Given the description of an element on the screen output the (x, y) to click on. 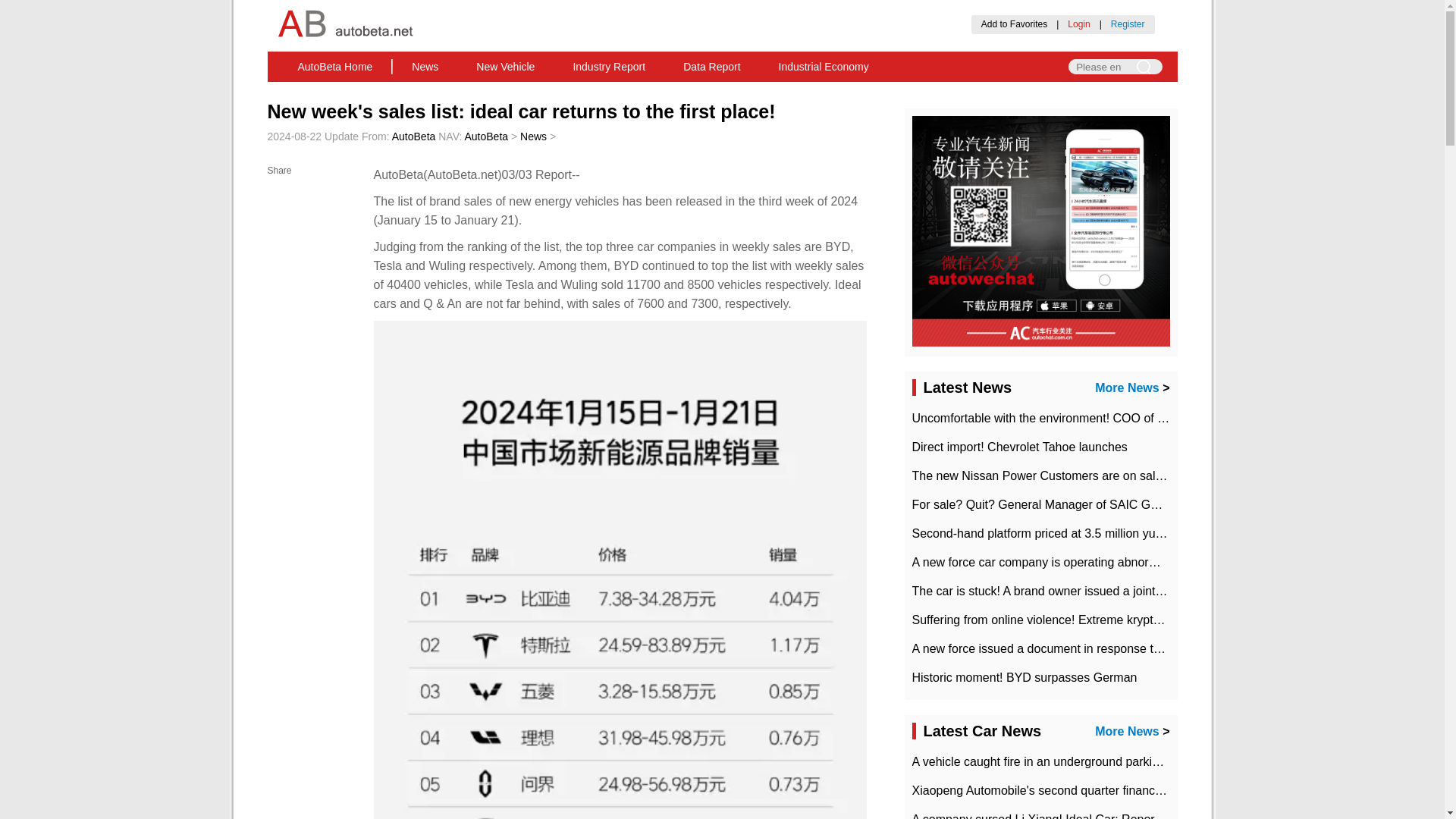
AutoBeta Home (335, 66)
News (533, 136)
Industrial Economy (824, 66)
Industry Report (608, 66)
News (425, 66)
New Vehicle (505, 66)
Login (1078, 23)
Add to Favorites (1013, 23)
Car Directory (739, 90)
Data Report (710, 66)
